Given the description of an element on the screen output the (x, y) to click on. 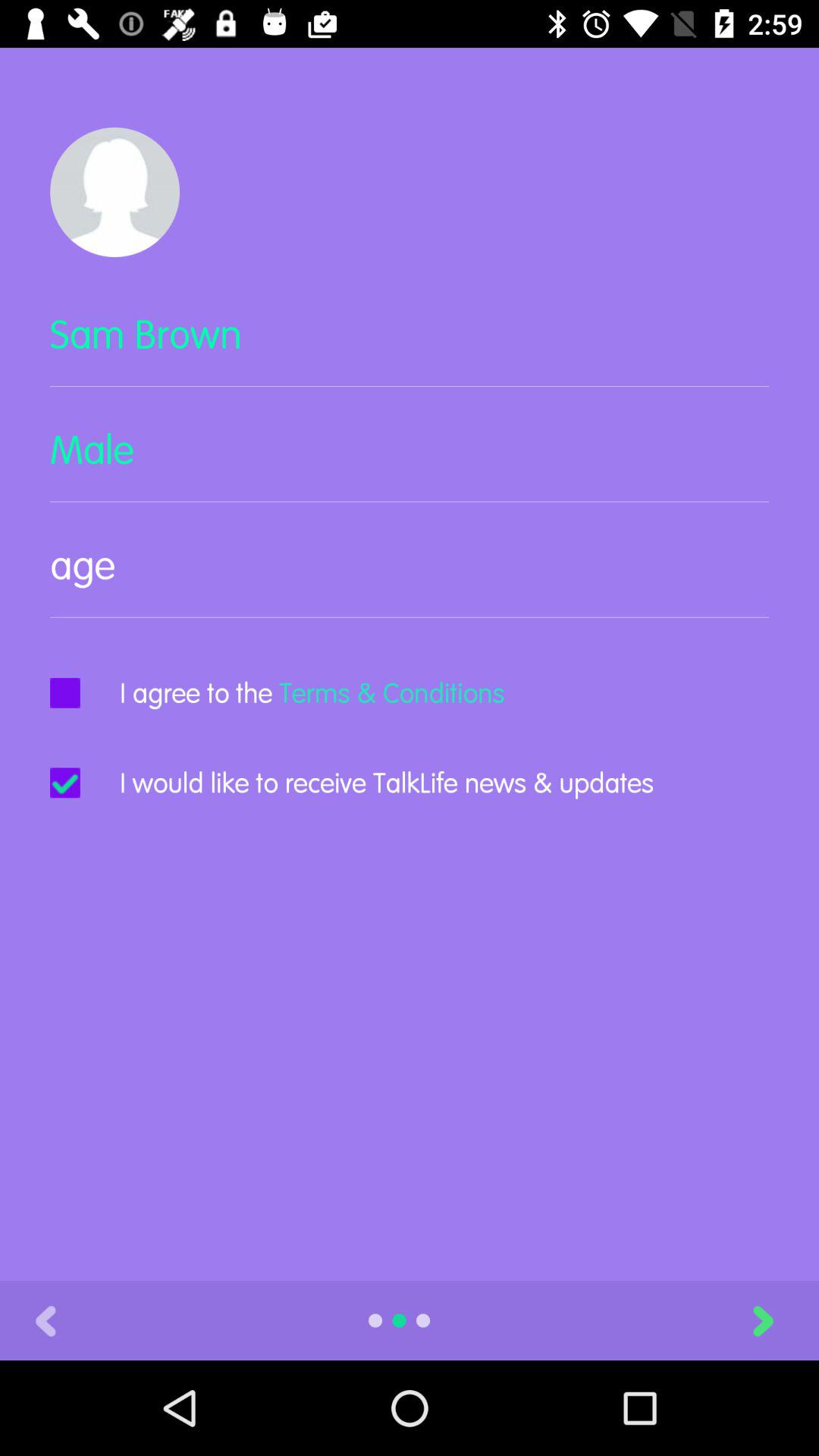
turn on the item above sam brown icon (114, 192)
